Given the description of an element on the screen output the (x, y) to click on. 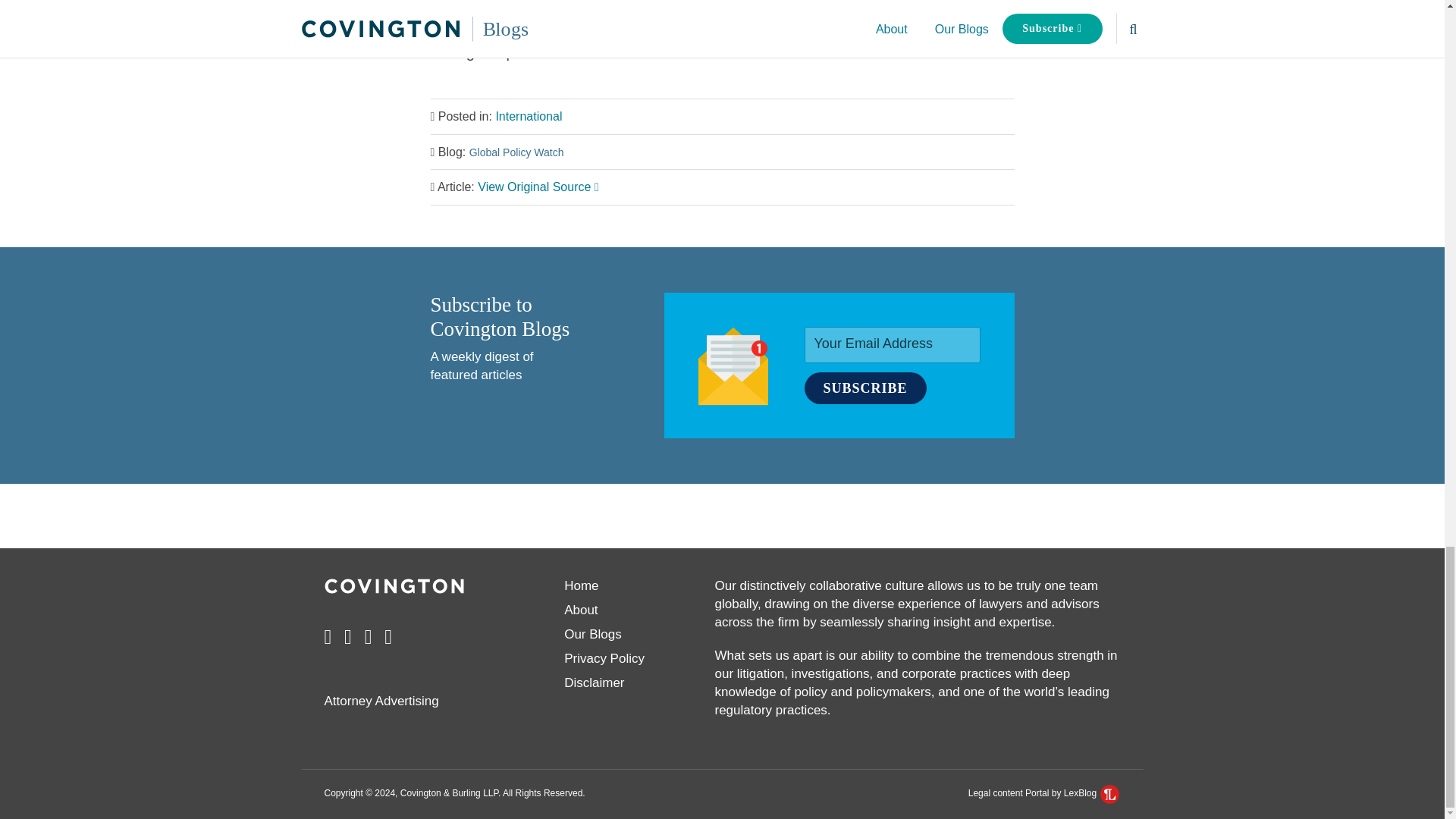
SUBSCRIBE (864, 388)
Legal content Portal by LexBlog LexBlog Logo (1044, 792)
Follow Us on Facebook (327, 637)
Add to your Feed Reader (387, 637)
here (553, 52)
Privacy Policy (604, 658)
Home (581, 585)
Global Policy Watch (516, 152)
About (580, 609)
View Original Source (537, 186)
SUBSCRIBE (864, 388)
Follow Us on Twitter (368, 637)
Our Blogs (592, 634)
International (528, 115)
Disclaimer (594, 682)
